Given the description of an element on the screen output the (x, y) to click on. 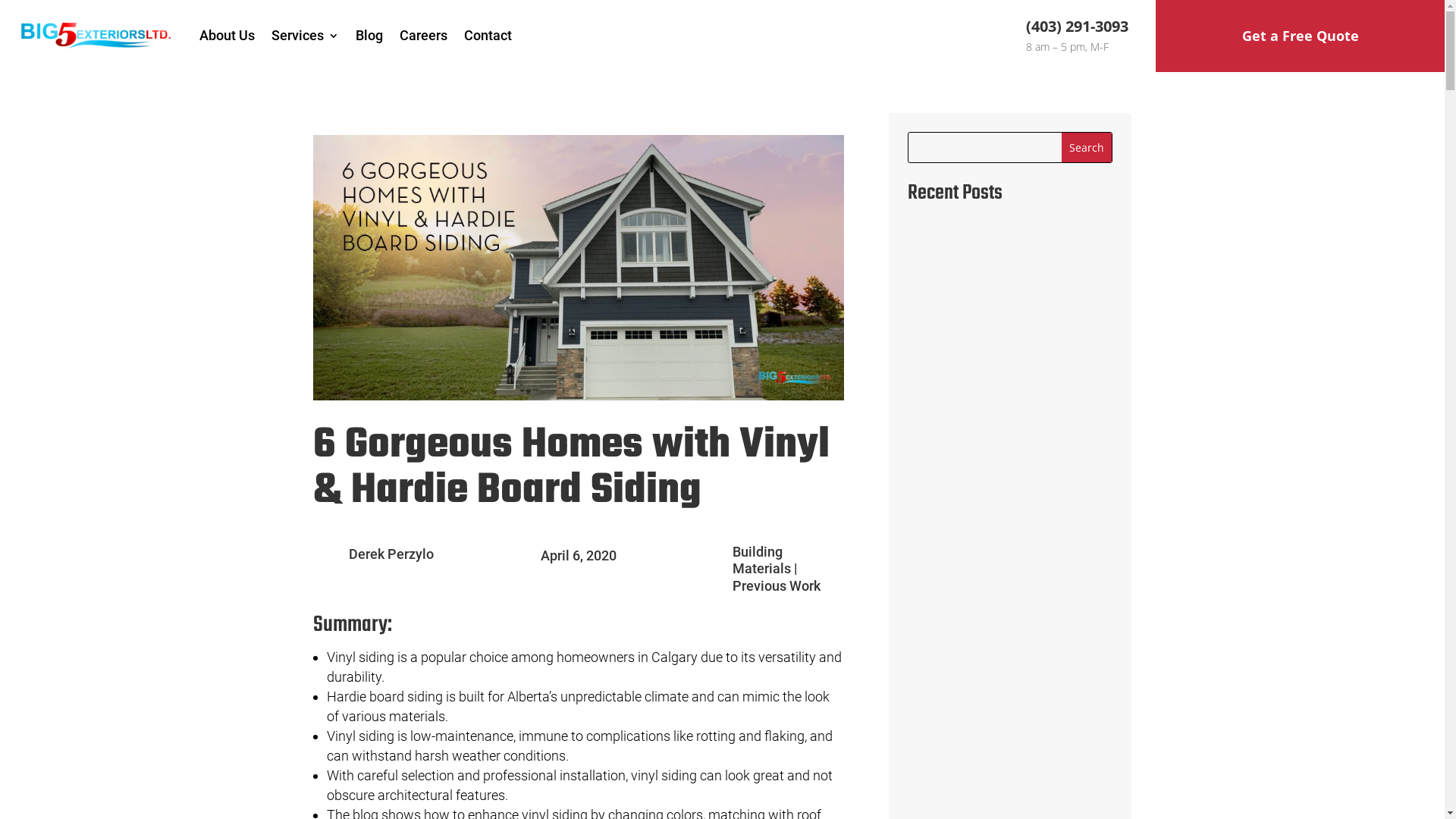
Get a Free Quote Element type: text (1299, 36)
Blog Element type: text (368, 35)
Building Materials Element type: text (761, 560)
(403) 291-3093 Element type: text (1077, 25)
Big5-6-Gorgeous-Homes-Vinyl-Hardie-Siding Element type: hover (577, 267)
About Us Element type: text (226, 35)
Previous Work Element type: text (776, 585)
Services Element type: text (304, 35)
Search Element type: text (1086, 147)
Careers Element type: text (423, 35)
Contact Element type: text (487, 35)
